Given the description of an element on the screen output the (x, y) to click on. 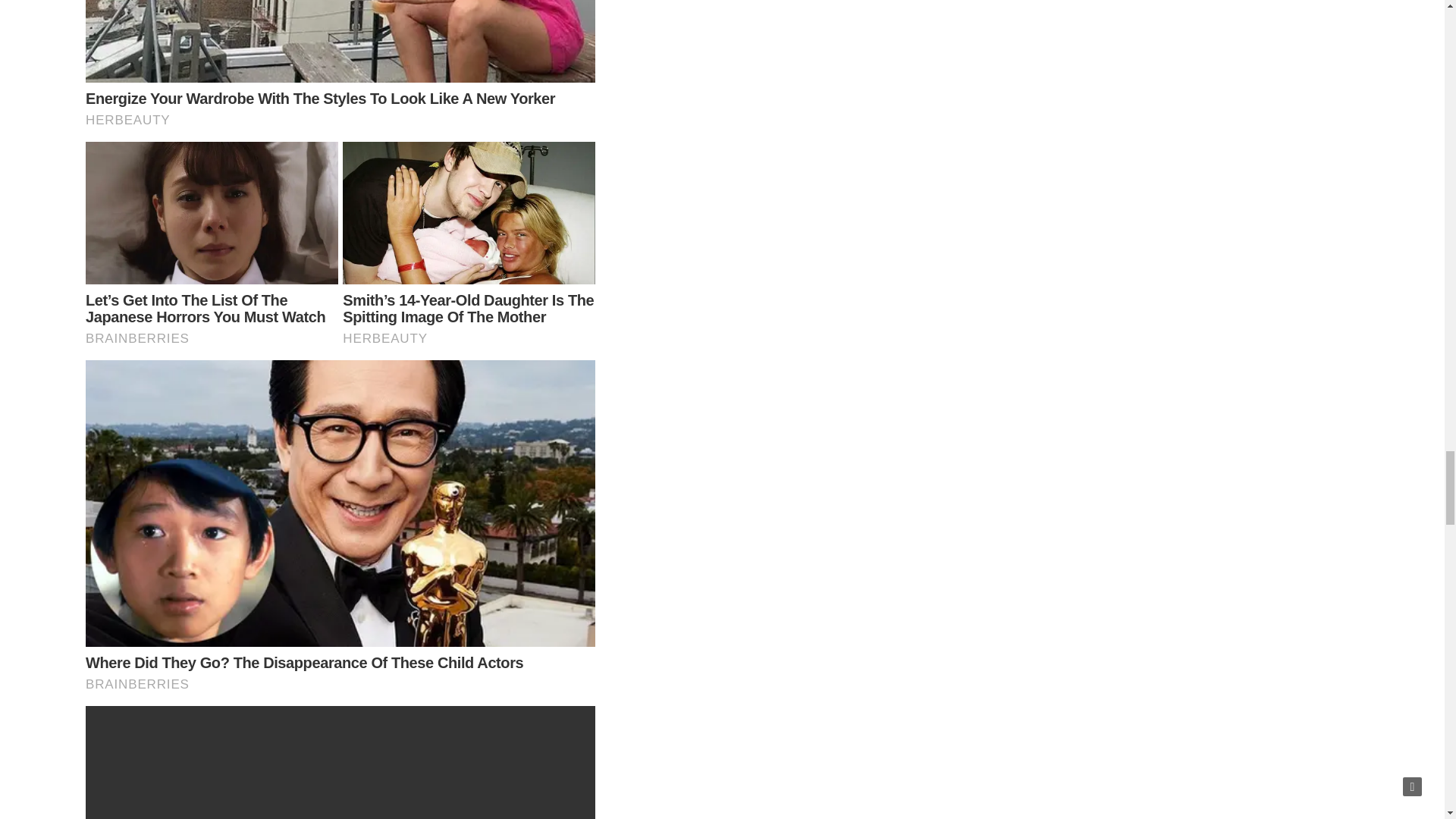
BRAINBERRIES (211, 338)
BRAINBERRIES (340, 684)
Where Did They Go? The Disappearance Of These Child Actors (303, 662)
HERBEAUTY (468, 338)
HERBEAUTY (340, 120)
